Given the description of an element on the screen output the (x, y) to click on. 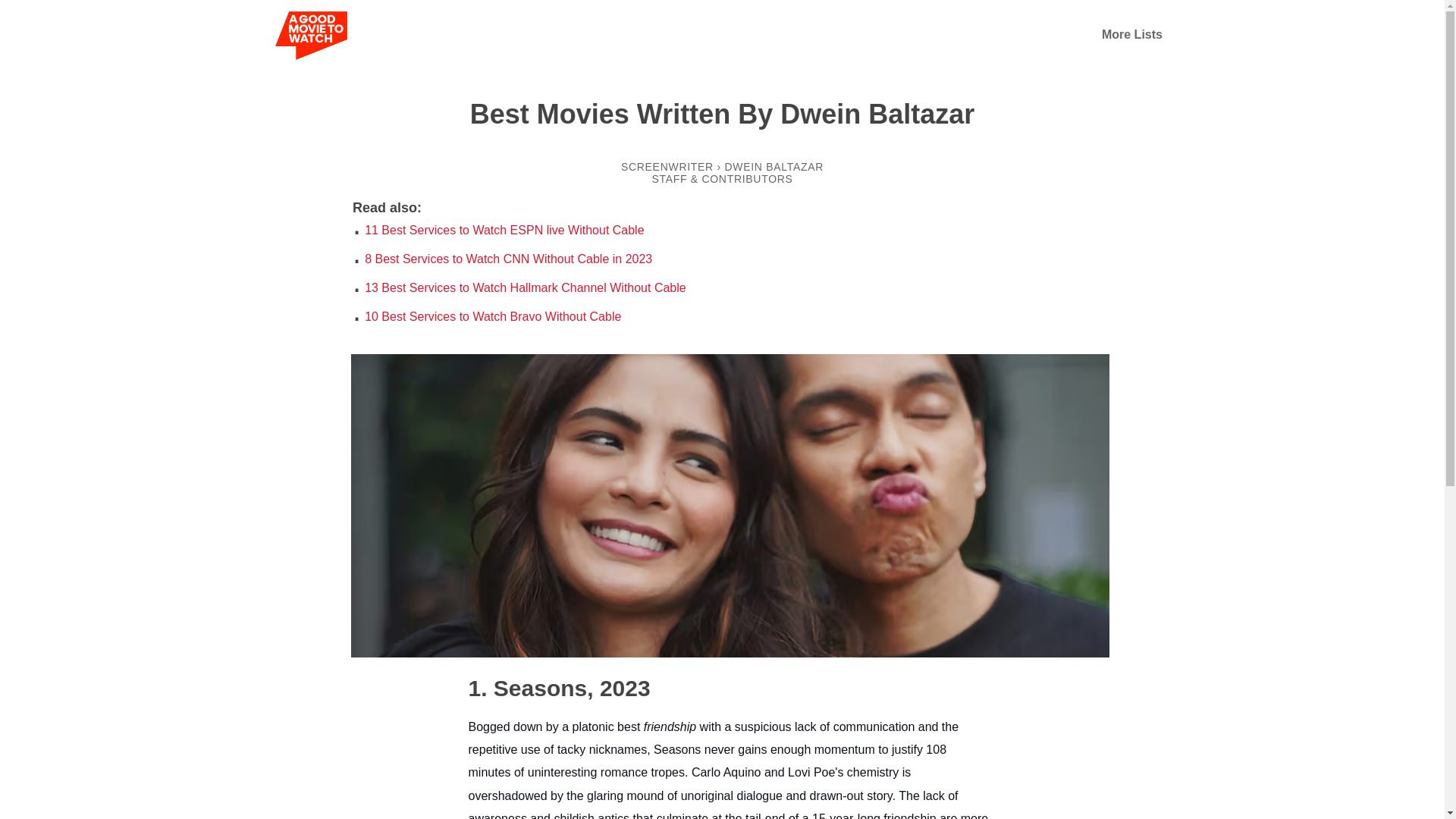
More Lists (1132, 34)
Seasons (528, 687)
